Given the description of an element on the screen output the (x, y) to click on. 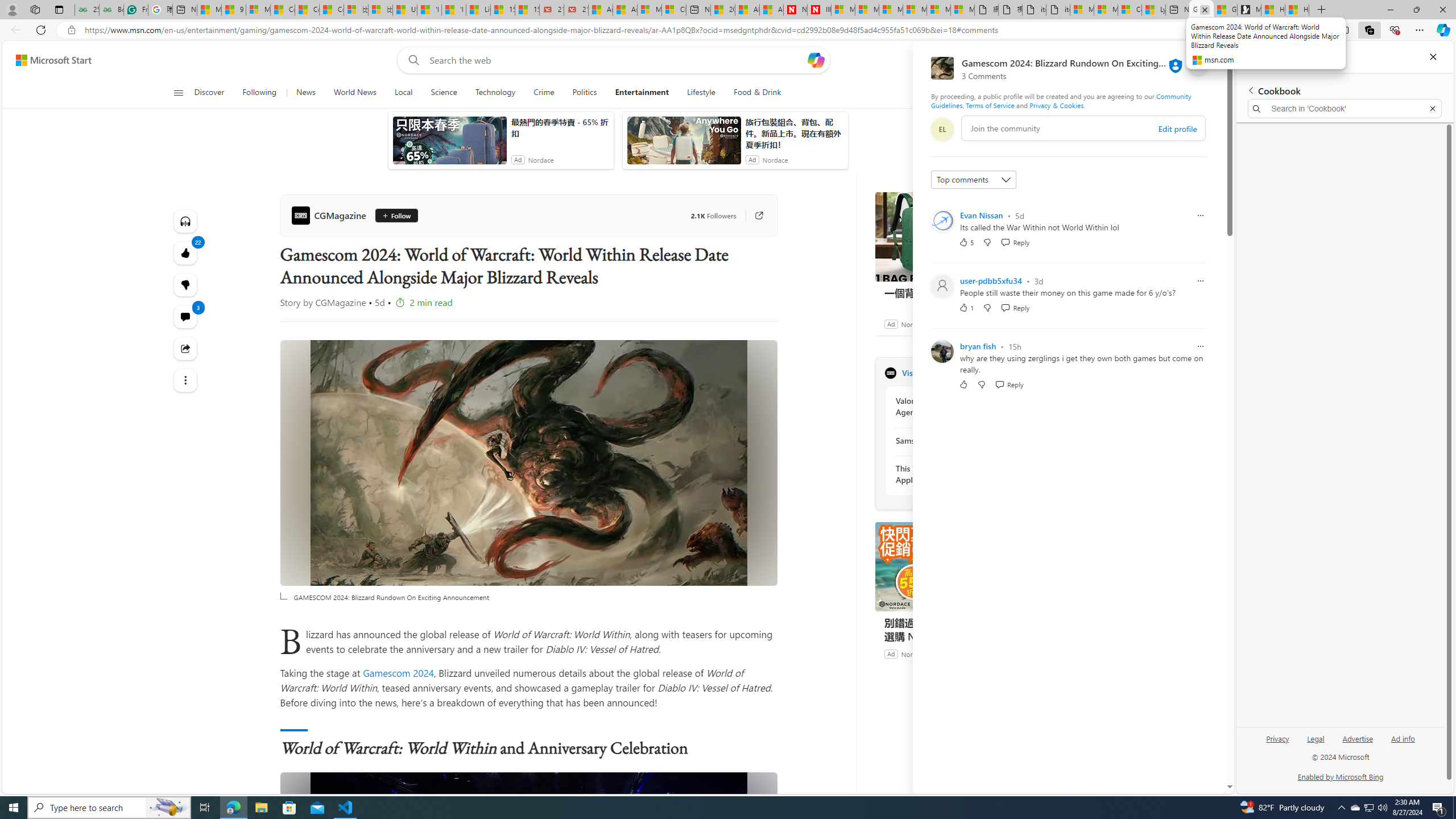
Listen to this article (184, 220)
Follow (395, 215)
